Given the description of an element on the screen output the (x, y) to click on. 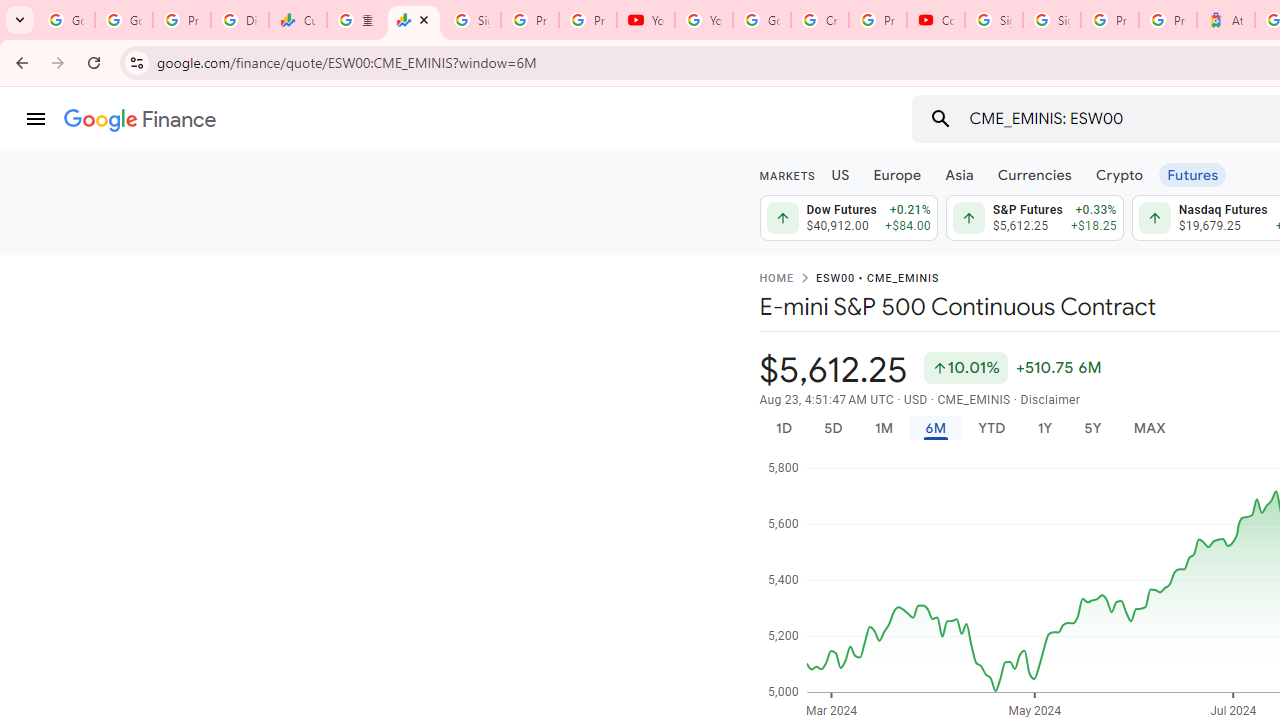
Currencies (1034, 174)
Currencies - Google Finance (297, 20)
Main menu (35, 119)
5Y (1092, 427)
Crypto (1119, 174)
Asia (958, 174)
YouTube (645, 20)
Sign in - Google Accounts (1051, 20)
Dow Futures $40,912.00 Up by 0.21% +$84.00 (848, 218)
Atour Hotel - Google hotels (1225, 20)
Sign in - Google Accounts (471, 20)
Google Account Help (762, 20)
